Given the description of an element on the screen output the (x, y) to click on. 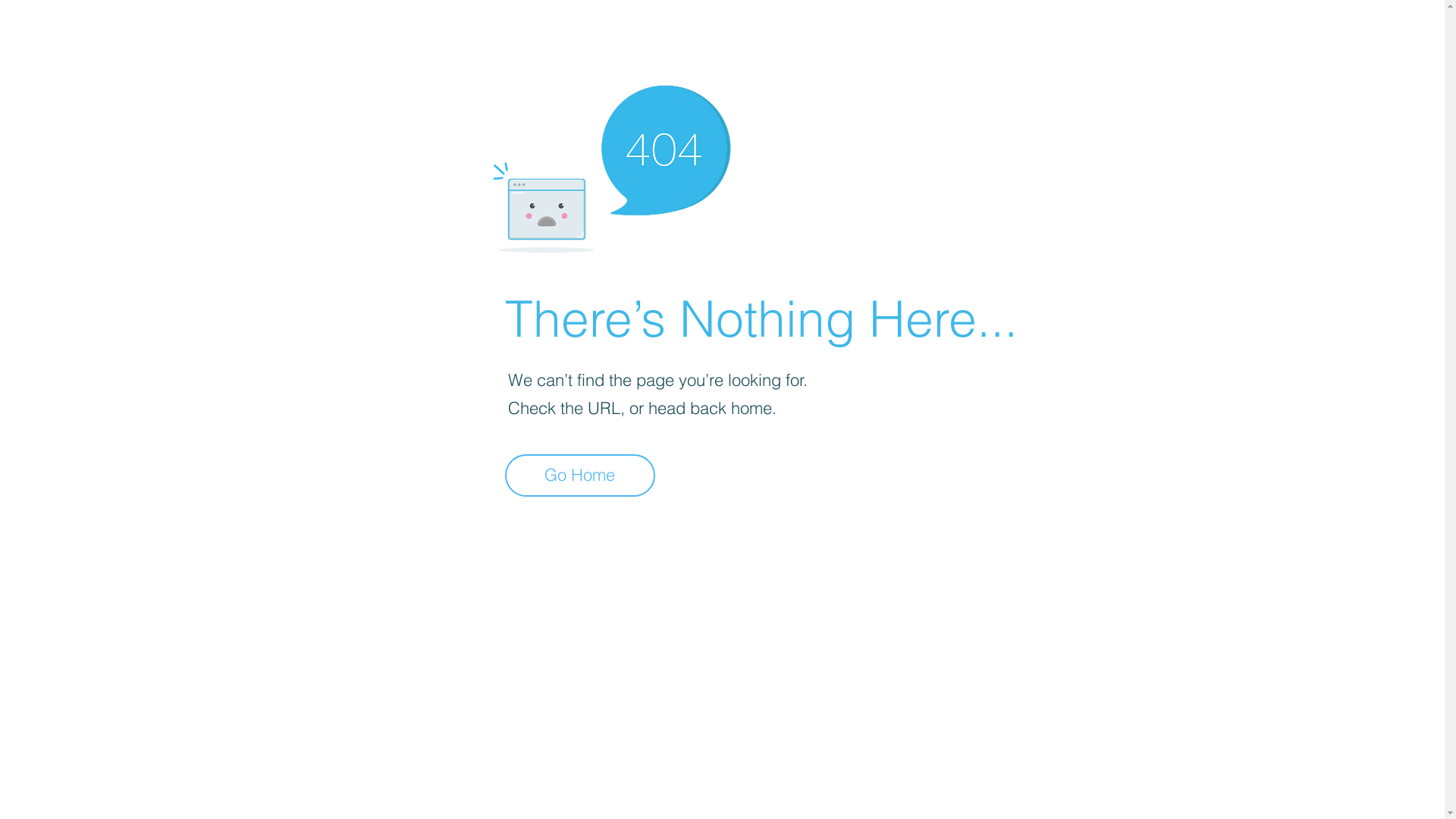
404-icon_2.png Element type: hover (610, 164)
Go Home Element type: text (580, 475)
